Given the description of an element on the screen output the (x, y) to click on. 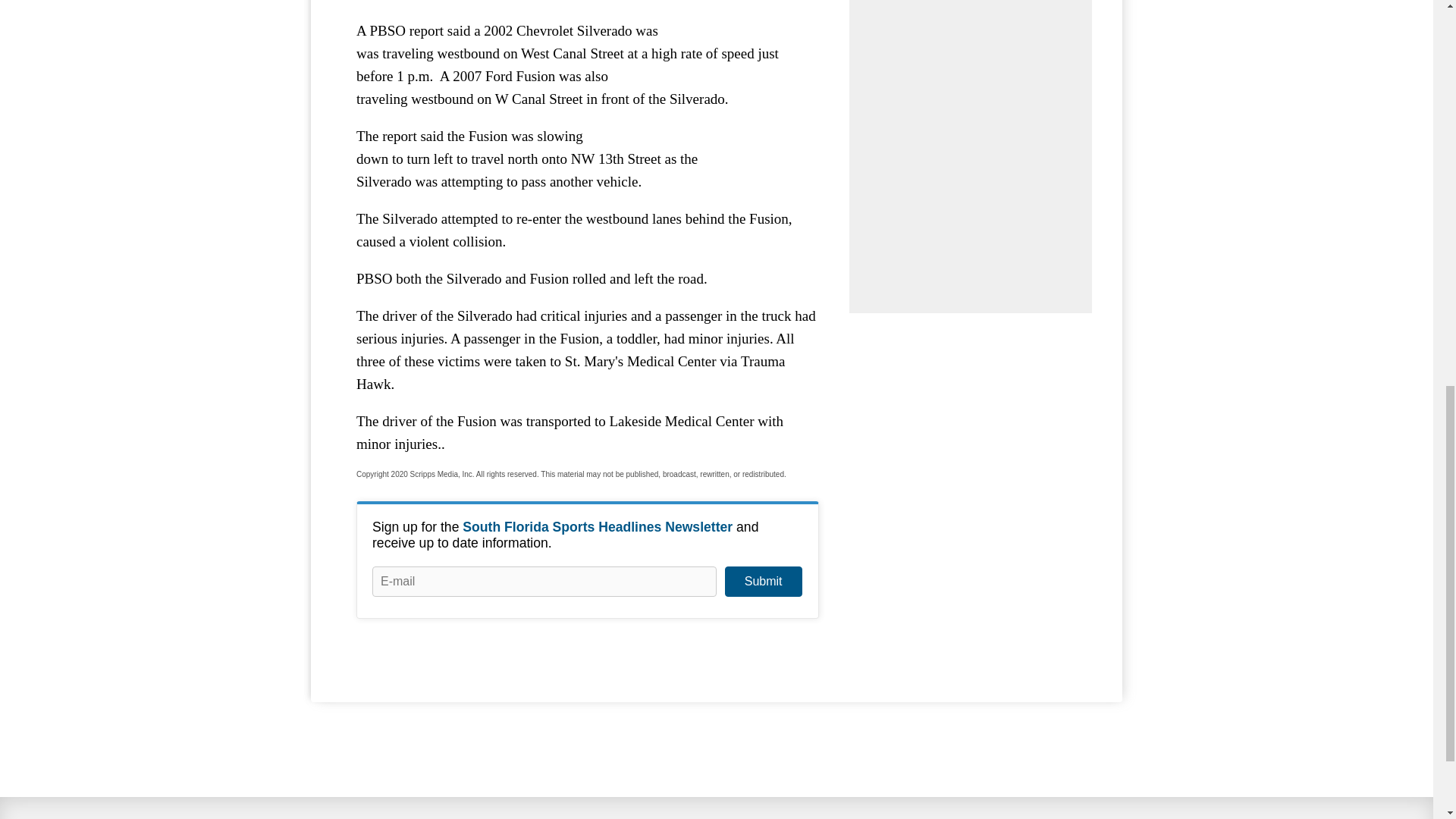
Submit (763, 581)
